Given the description of an element on the screen output the (x, y) to click on. 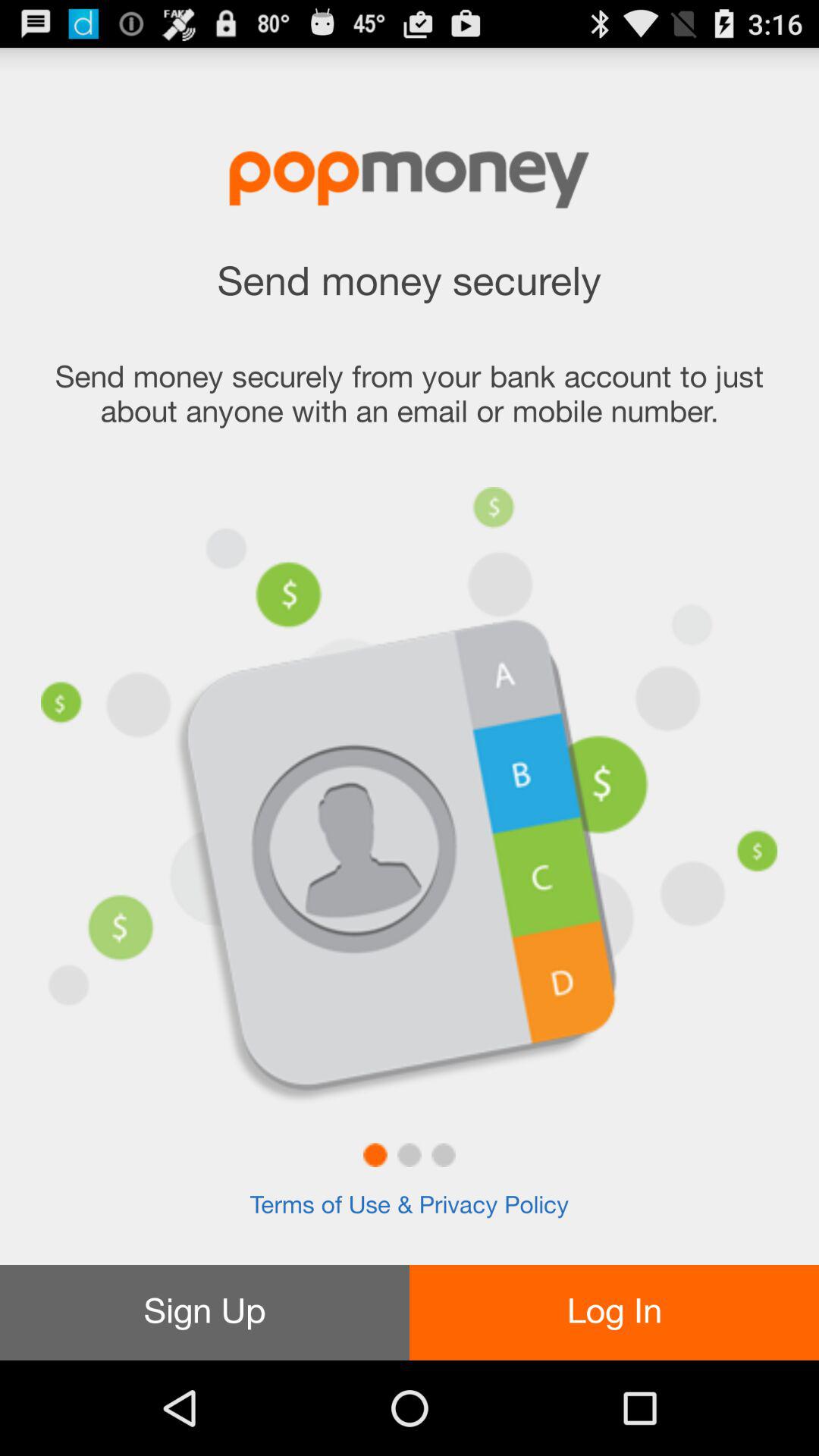
turn on terms of use item (409, 1205)
